Given the description of an element on the screen output the (x, y) to click on. 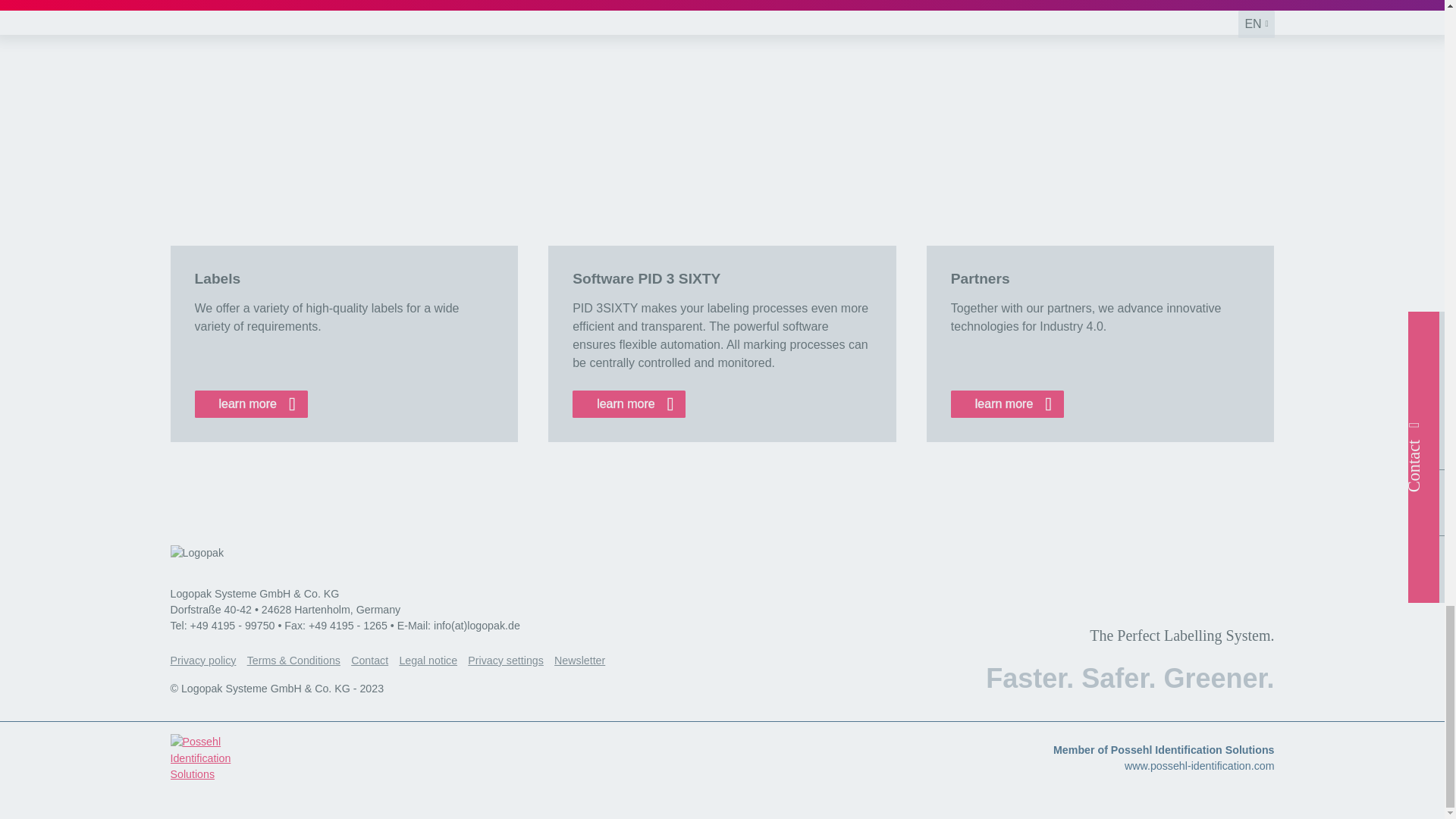
learn more (628, 403)
Legal notice (432, 660)
Newsletter (584, 660)
Privacy policy (208, 660)
learn more (1007, 403)
Contact (374, 660)
Privacy settings (510, 660)
learn more (250, 403)
